Given the description of an element on the screen output the (x, y) to click on. 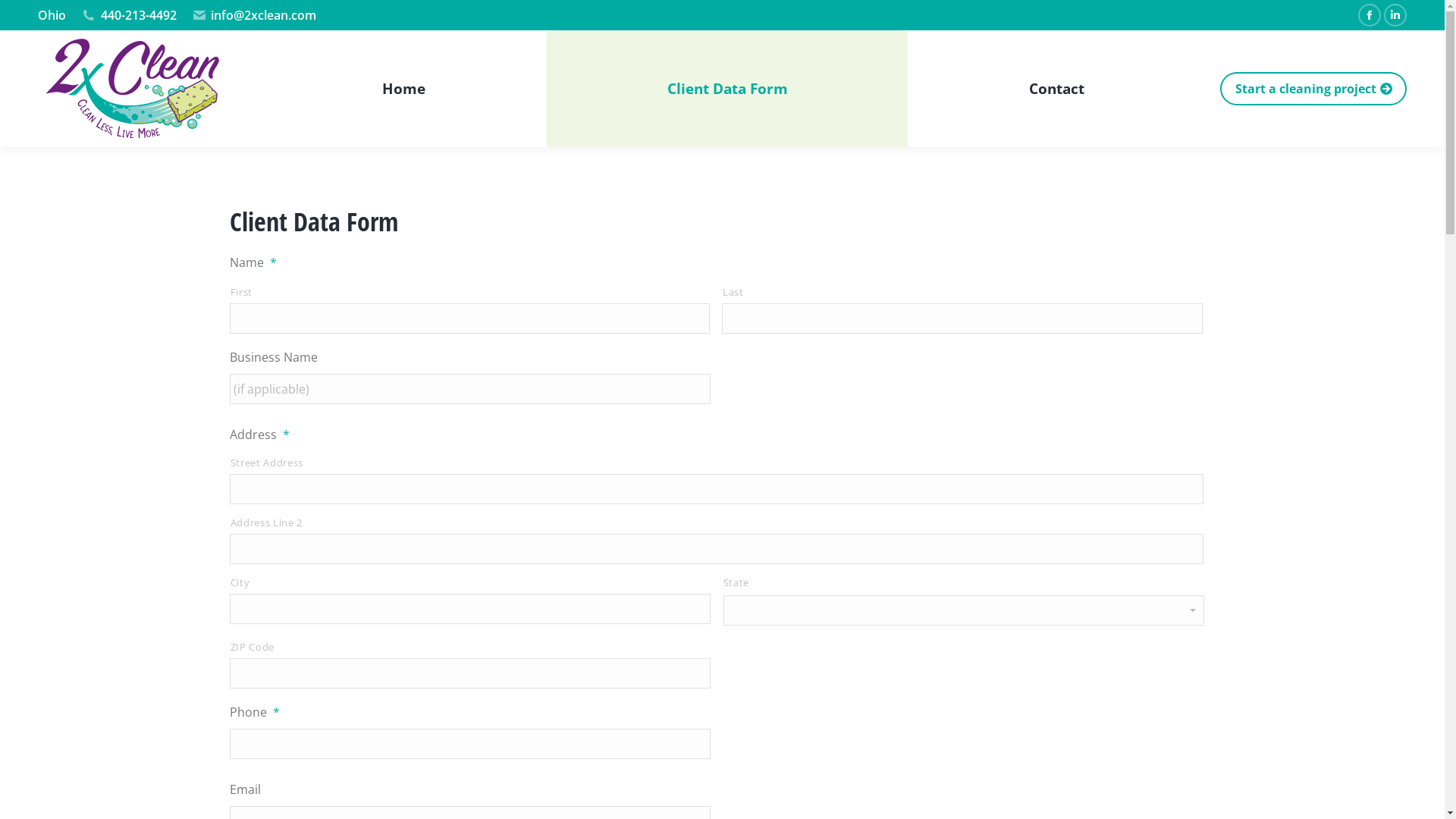
Home Element type: text (403, 88)
Start a cleaning project Element type: text (1313, 88)
Contact Element type: text (1056, 88)
Facebook page opens in new window Element type: text (1369, 14)
Linkedin page opens in new window Element type: text (1394, 14)
440-213-4492 Element type: text (128, 14)
Client Data Form Element type: text (727, 88)
info@2xclean.com Element type: text (253, 14)
